Given the description of an element on the screen output the (x, y) to click on. 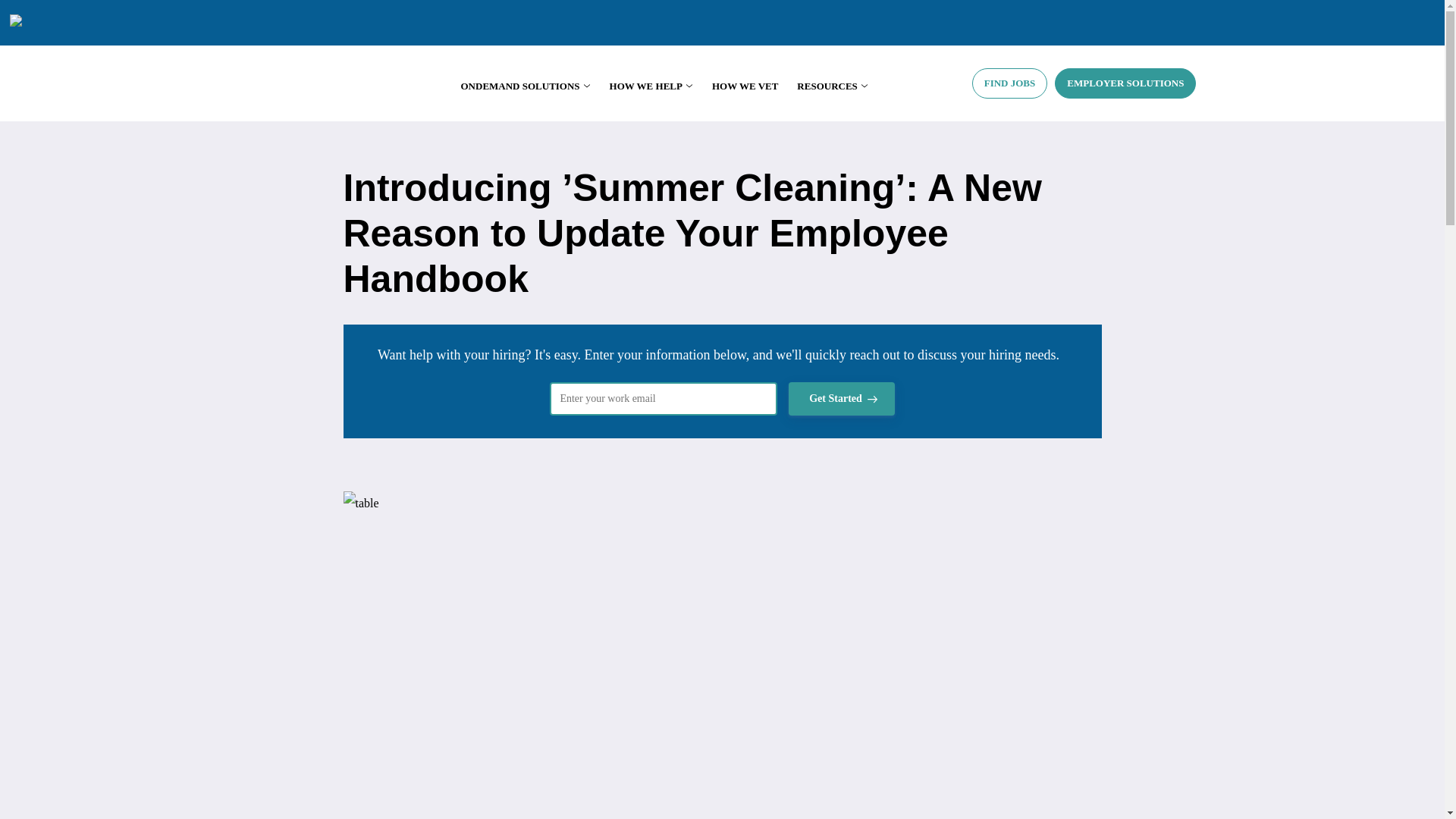
EMPLOYER SOLUTIONS (1124, 82)
Get Started (842, 399)
RESOURCES (831, 85)
ONDEMAND SOLUTIONS (526, 85)
HOW WE VET (744, 85)
FIND JOBS (1010, 82)
HOW WE HELP (651, 85)
